Given the description of an element on the screen output the (x, y) to click on. 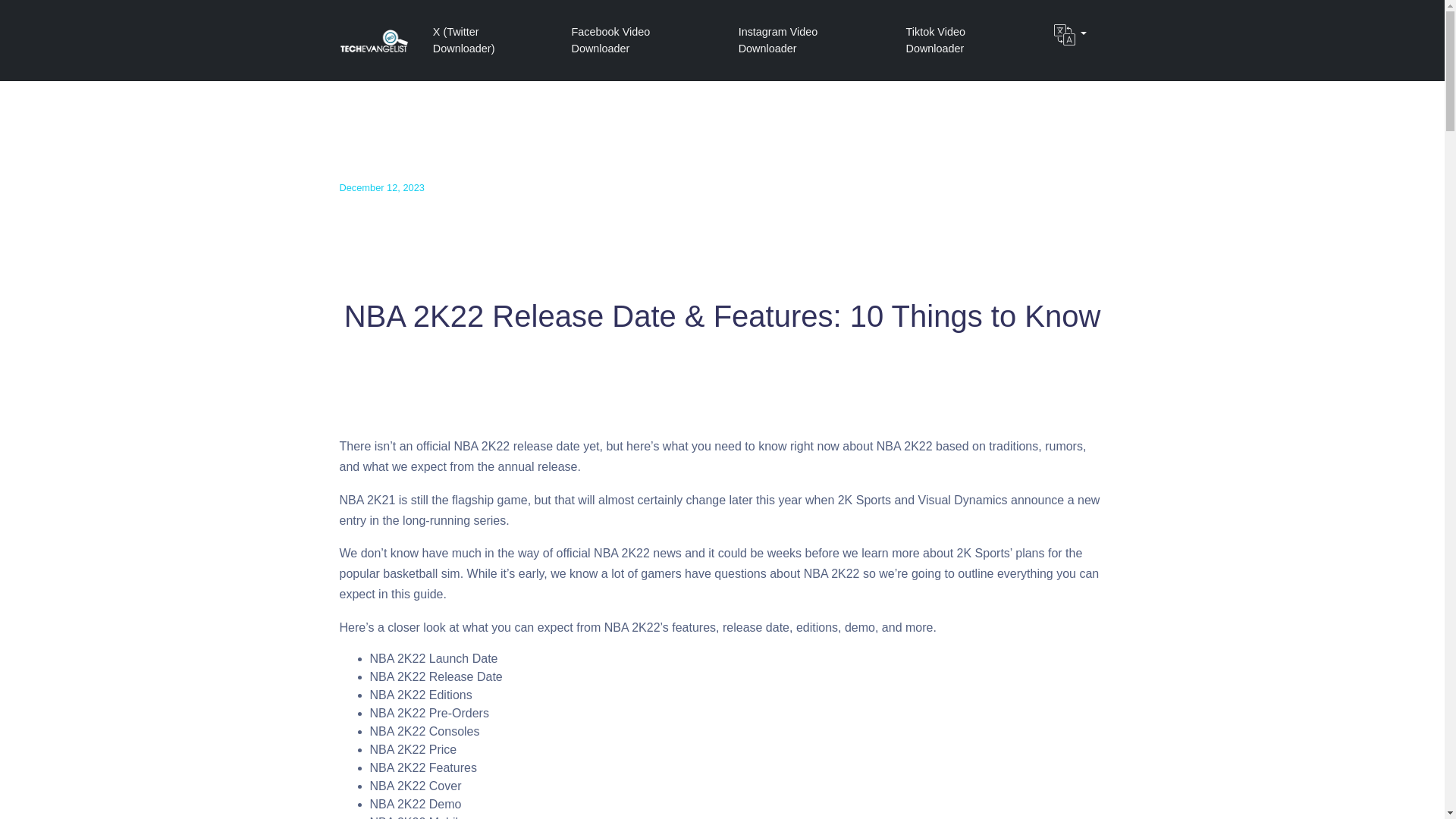
Tiktok Video Downloader (964, 40)
Instagram Video Downloader (807, 40)
Facebook Video Downloader (639, 40)
